Given the description of an element on the screen output the (x, y) to click on. 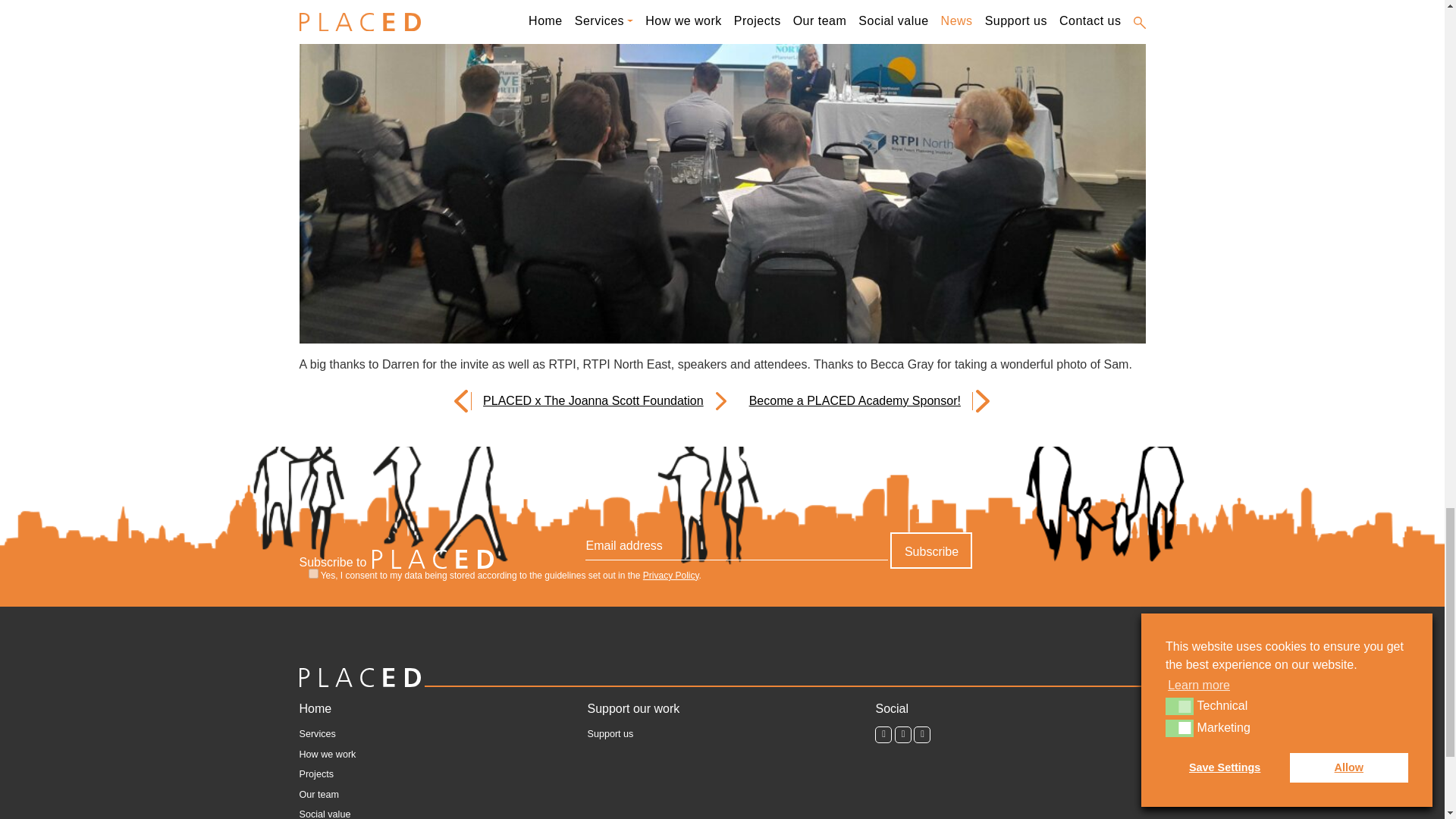
How we work (326, 755)
Projects (315, 775)
Support us (609, 735)
PLACED x The Joanna Scott Foundation (598, 401)
Social value (324, 812)
Services (316, 735)
Become a PLACED Academy Sponsor! (849, 401)
Subscribe (930, 550)
1 (312, 573)
Our team (318, 795)
Privacy Policy (670, 575)
Subscribe (930, 550)
